Given the description of an element on the screen output the (x, y) to click on. 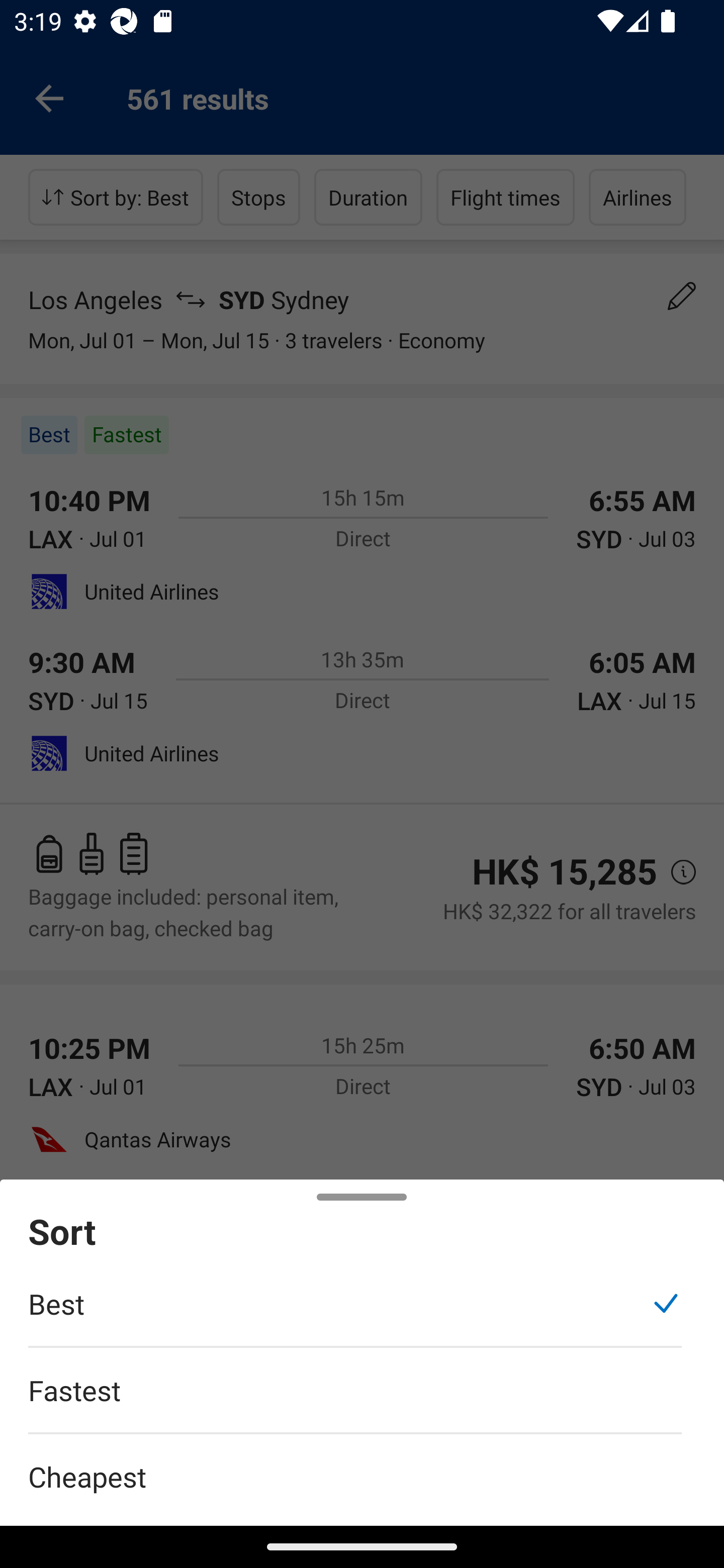
Best (355, 1313)
Fastest (355, 1399)
Cheapest (362, 1465)
